Given the description of an element on the screen output the (x, y) to click on. 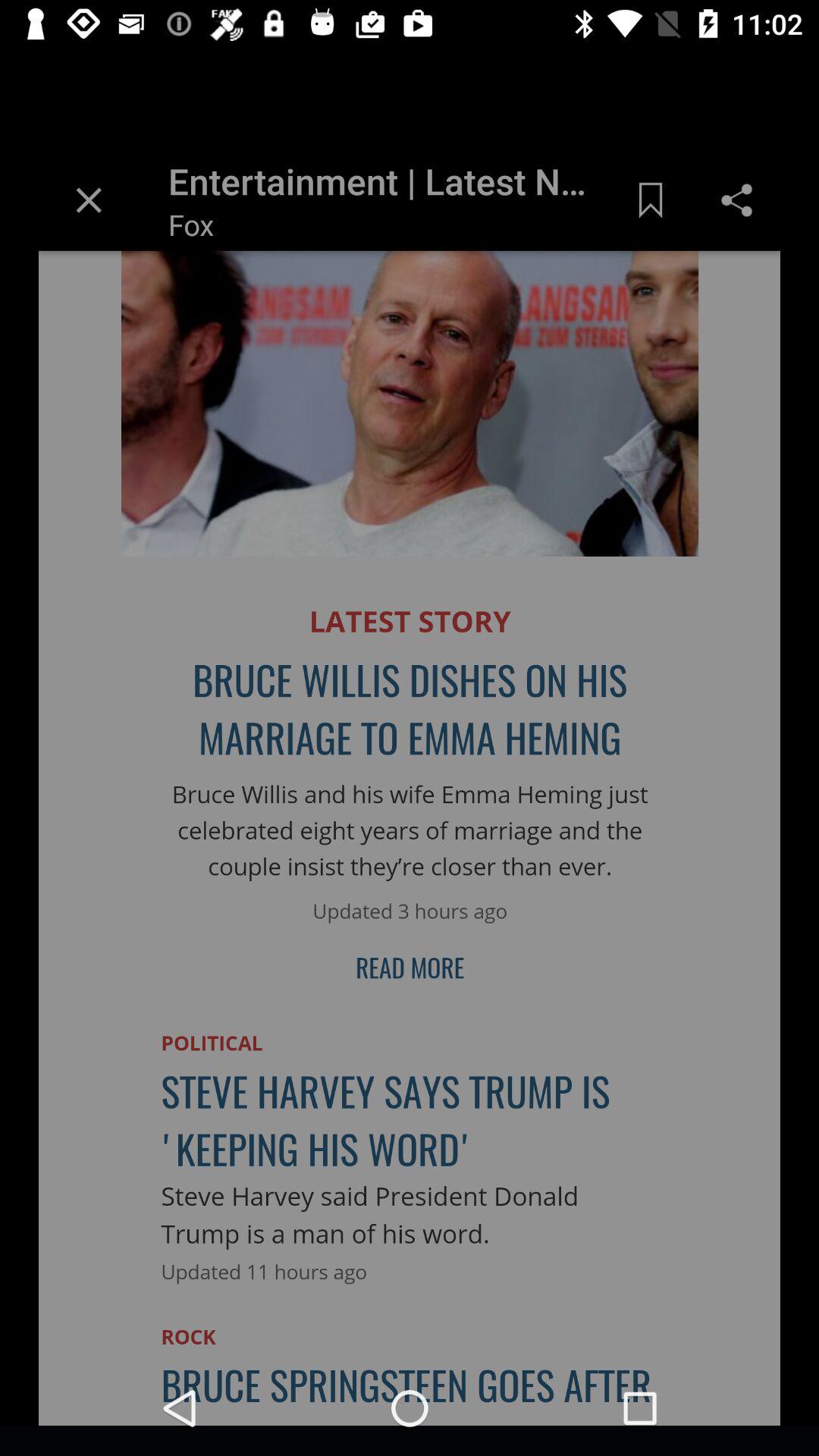
click on the button which is next to the save (716, 207)
